Given the description of an element on the screen output the (x, y) to click on. 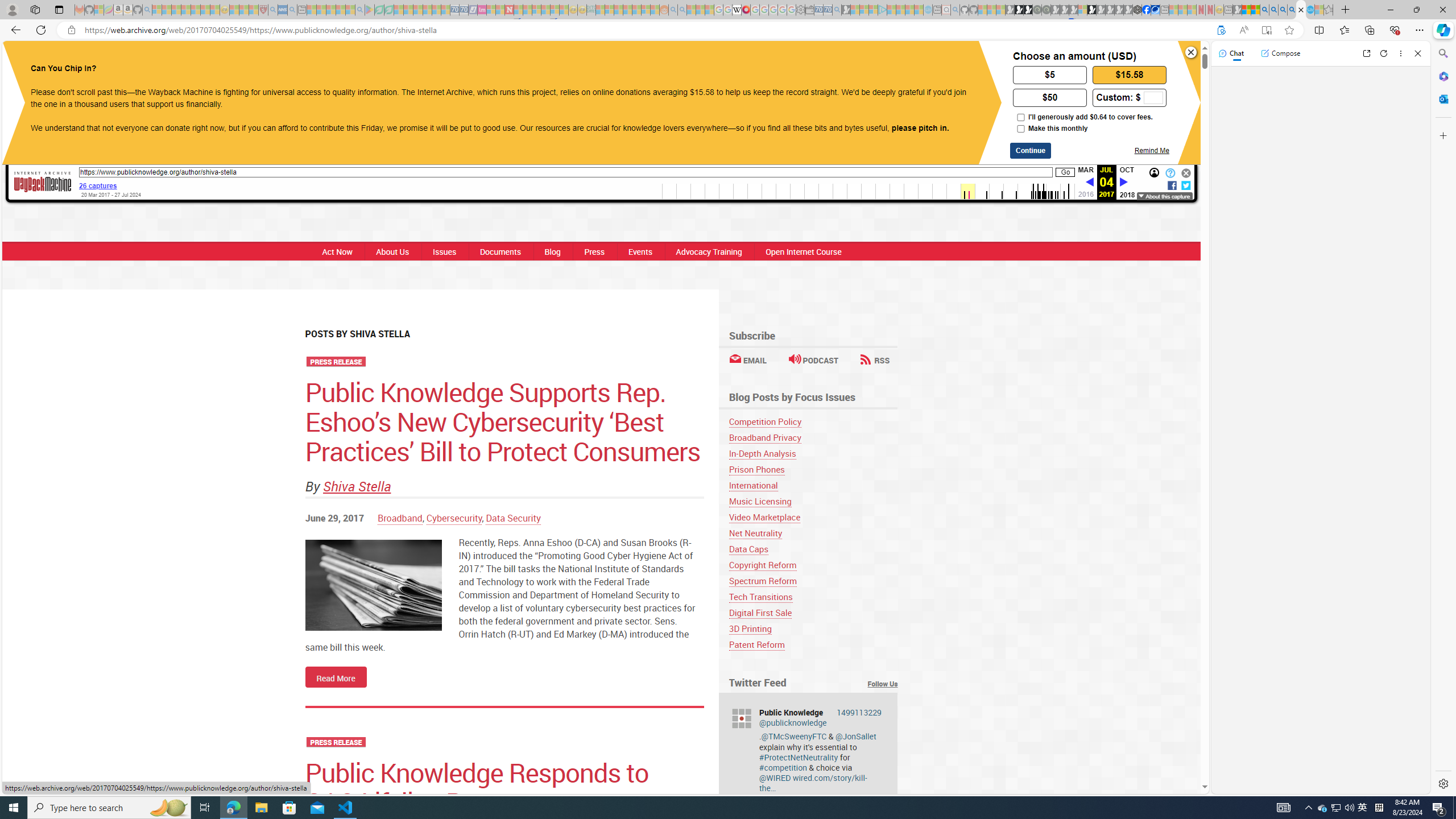
Public Knowledge (368, 60)
Video Marketplace (764, 517)
EMAIL (747, 360)
I'll generously add $0.64 to cover fees. (1020, 117)
Advocacy Training (707, 251)
Close banner (1190, 52)
PODCAST (812, 360)
Previous capture (1088, 181)
Continue (1030, 150)
Tech Transitions (813, 596)
Broadband Privacy (813, 437)
